Given the description of an element on the screen output the (x, y) to click on. 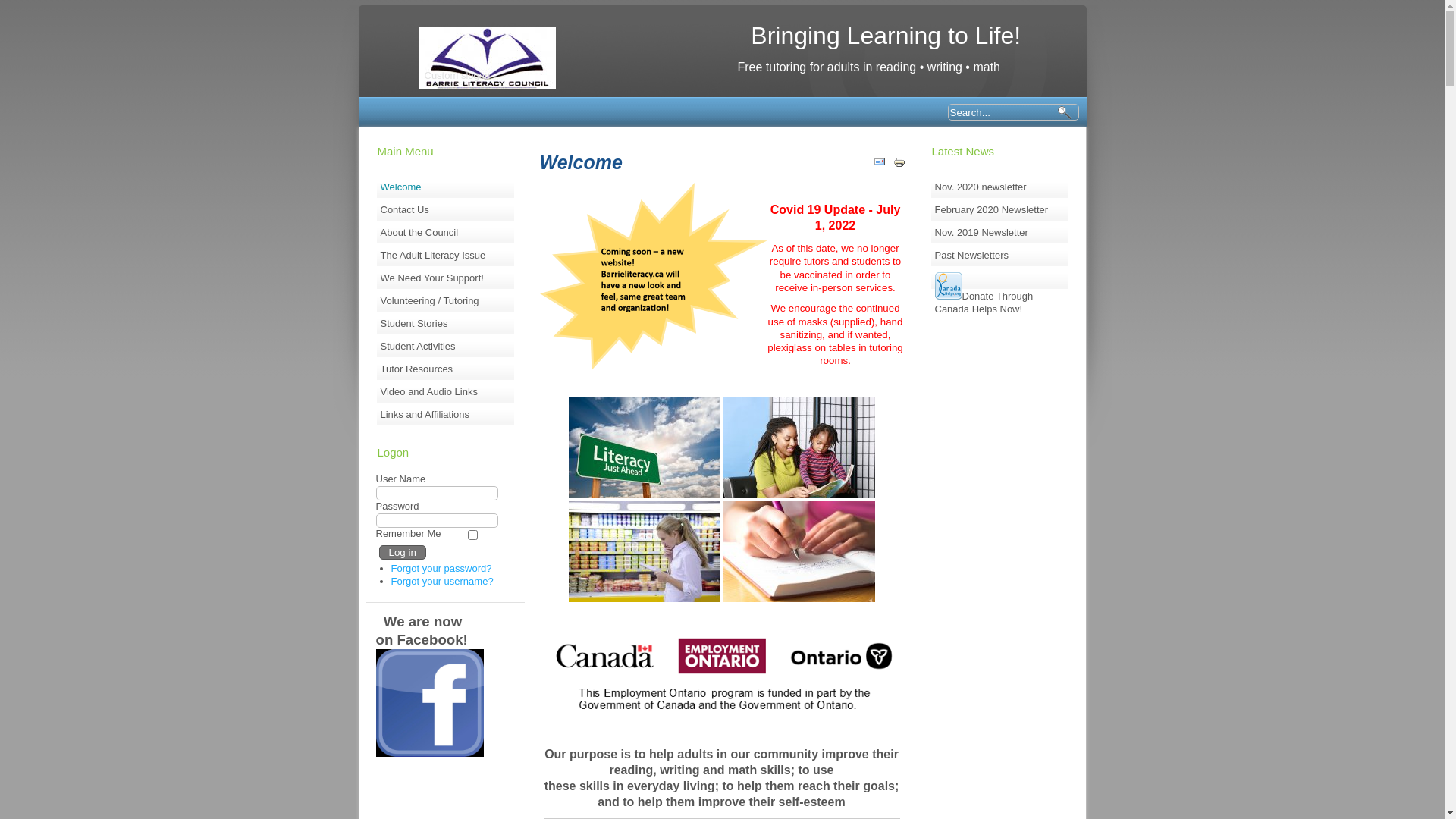
Welcome Element type: text (445, 186)
Forgot your password? Element type: text (441, 568)
Student Activities Element type: text (445, 346)
Nov. 2020 newsletter Element type: text (998, 186)
We Need Your Support! Element type: text (445, 277)
Contact Us Element type: text (445, 209)
Email Element type: hover (879, 164)
Past Newsletters Element type: text (998, 255)
Links and Affiliations Element type: text (445, 414)
Log in Element type: text (402, 552)
Volunteering / Tutoring Element type: text (445, 300)
Tutor Resources Element type: text (445, 368)
Video and Audio Links Element type: text (445, 391)
About the Council Element type: text (445, 232)
Forgot your username? Element type: text (442, 580)
Donate Through Canada Helps Now! Element type: text (998, 277)
Nov. 2019 Newsletter Element type: text (998, 232)
The Adult Literacy Issue Element type: text (445, 255)
Print Element type: hover (899, 164)
February 2020 Newsletter Element type: text (998, 209)
Student Stories Element type: text (445, 323)
